Given the description of an element on the screen output the (x, y) to click on. 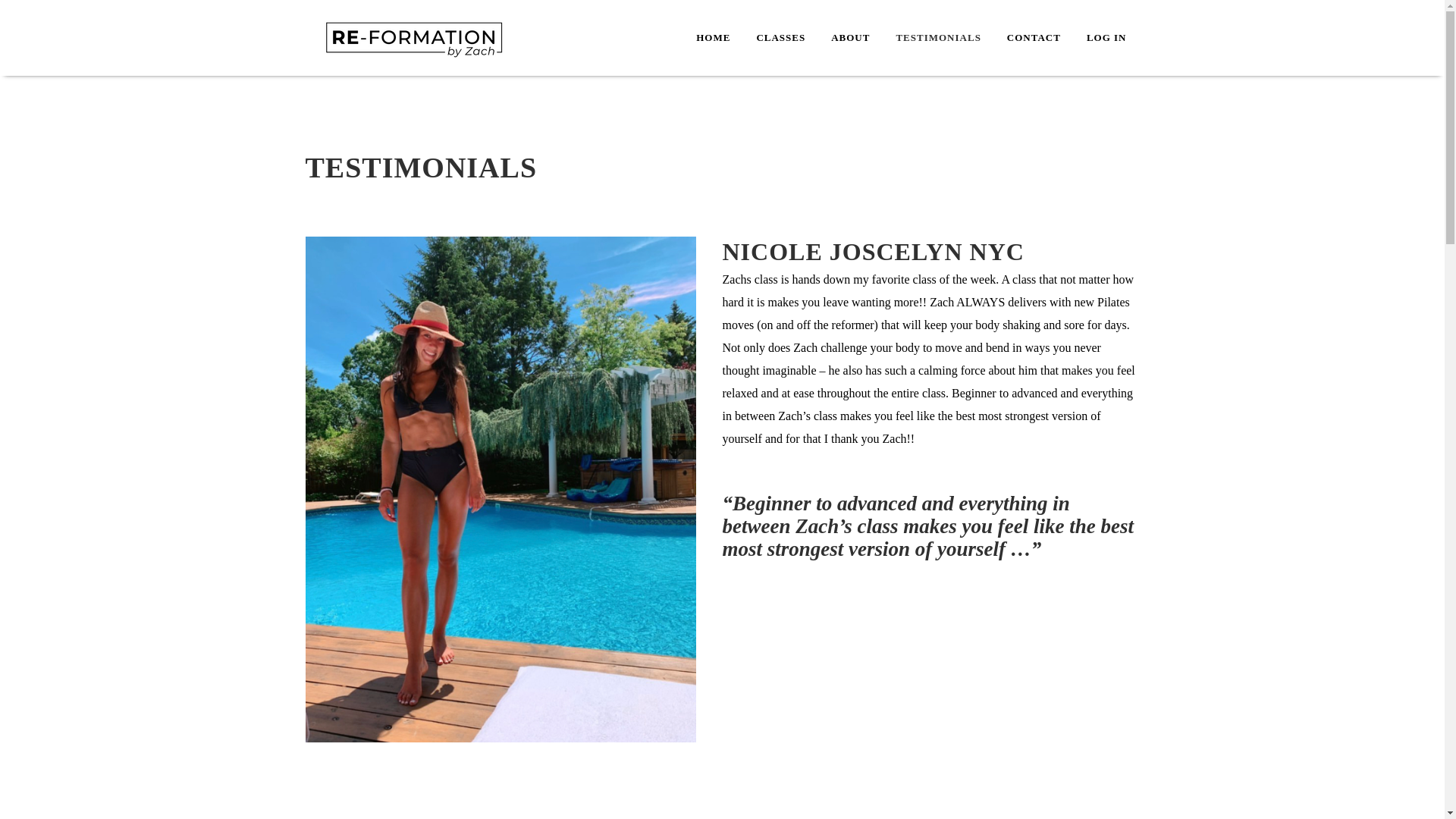
CLASSES (780, 38)
LOG IN (1107, 38)
CONTACT (1034, 38)
ABOUT (850, 38)
TESTIMONIALS (937, 38)
HOME (712, 38)
